Given the description of an element on the screen output the (x, y) to click on. 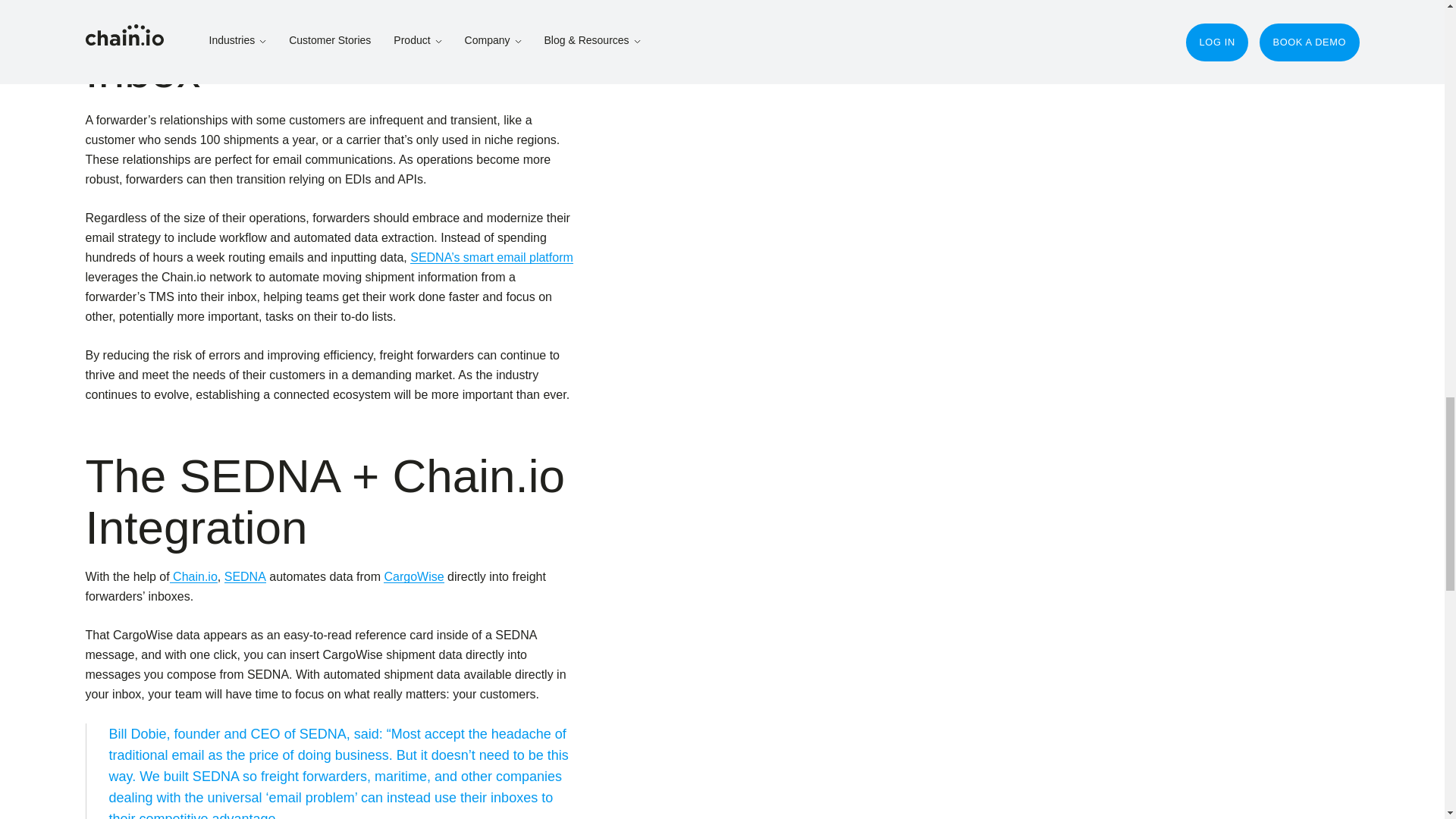
CargoWise (414, 576)
SEDNA (245, 576)
Chain.io (193, 576)
